Given the description of an element on the screen output the (x, y) to click on. 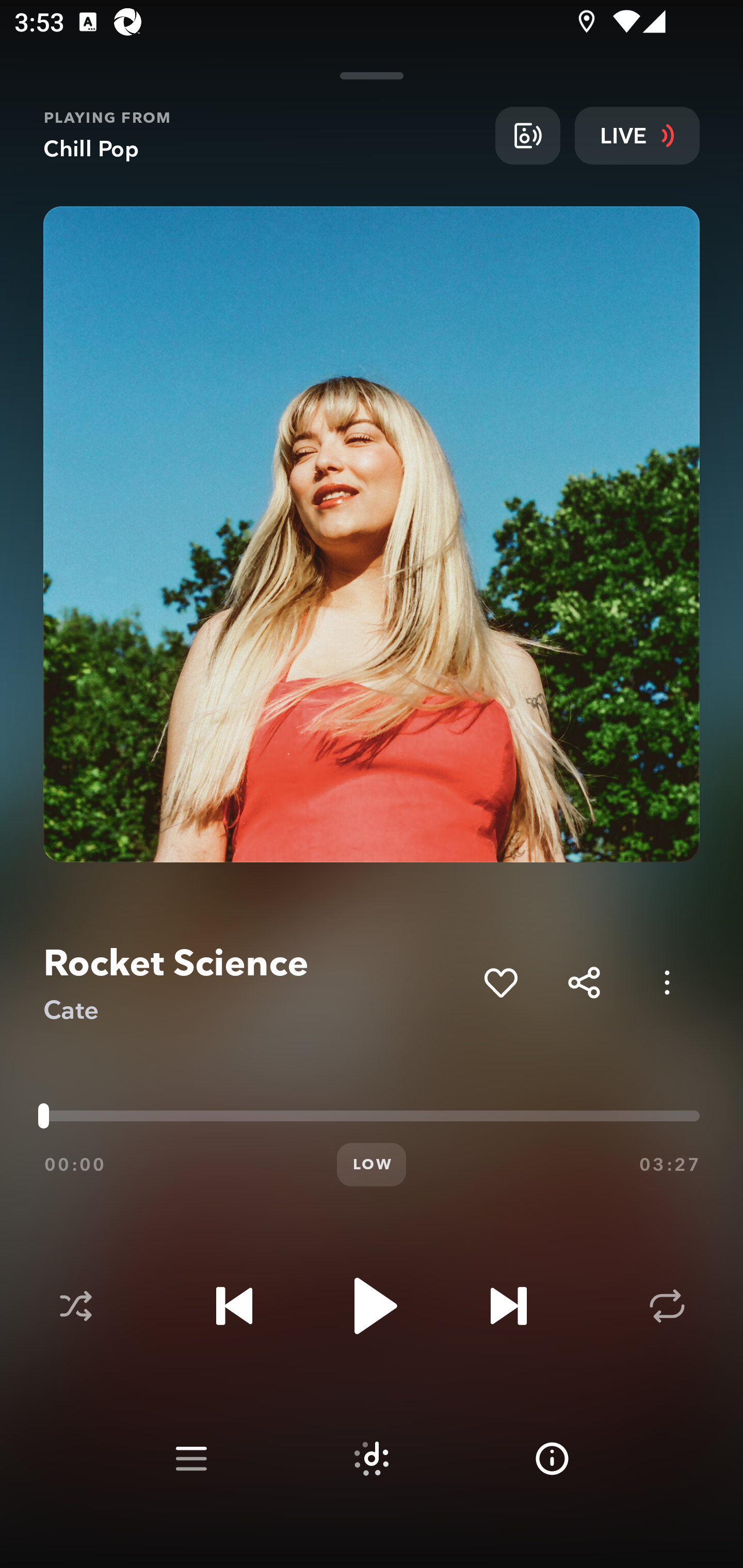
Broadcast (527, 135)
LIVE (637, 135)
PLAYING FROM Chill Pop (261, 135)
Rocket Science Cate (255, 983)
Add to My Collection (500, 982)
Share (583, 982)
Options (666, 982)
LOW (371, 1164)
Play (371, 1306)
Previous (234, 1306)
Next (508, 1306)
Shuffle disabled (75, 1306)
Repeat Off (666, 1306)
Play queue (191, 1458)
Suggested tracks (371, 1458)
Info (551, 1458)
